Given the description of an element on the screen output the (x, y) to click on. 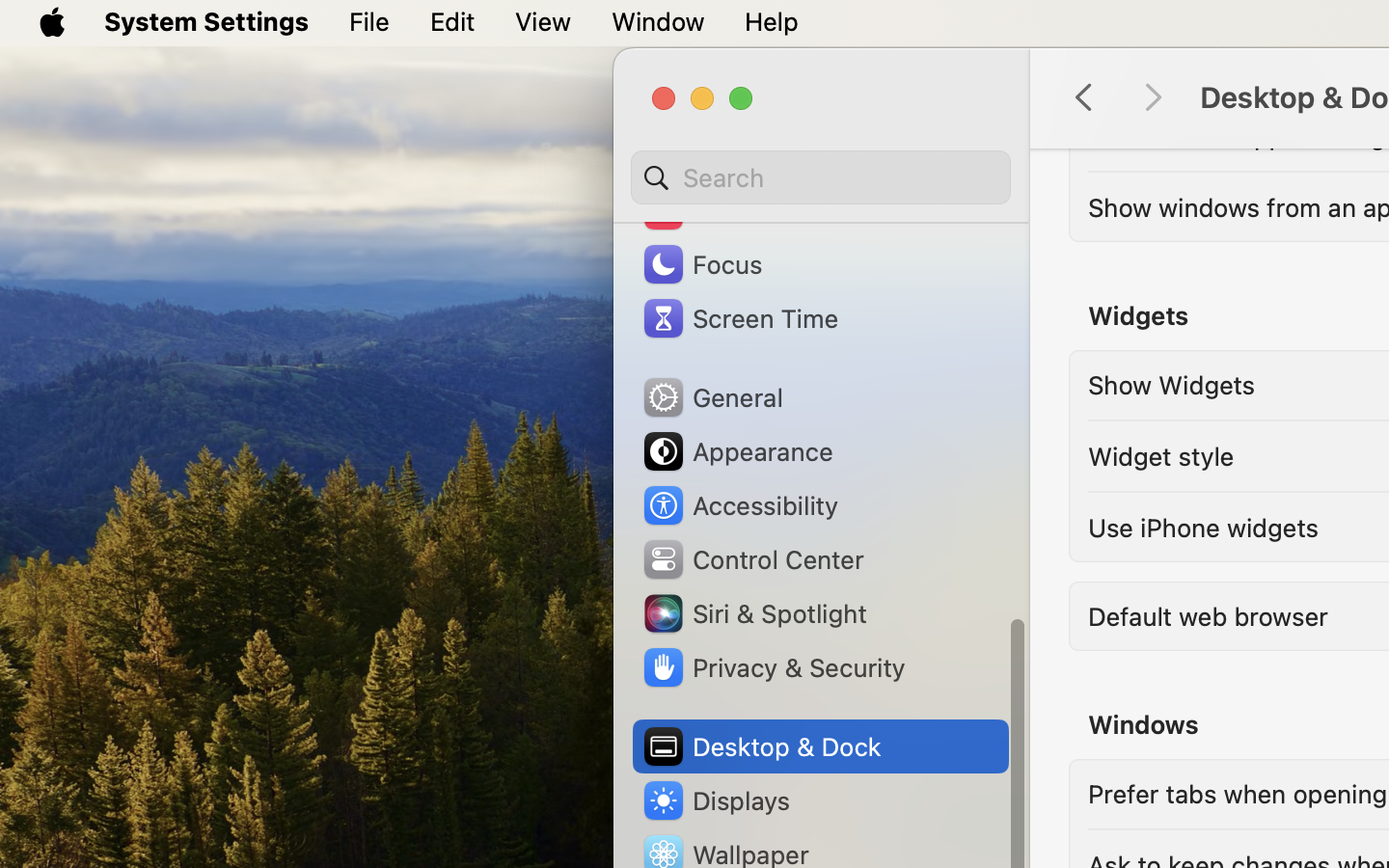
Use iPhone widgets Element type: AXStaticText (1203, 526)
Focus Element type: AXStaticText (701, 264)
Desktop & Dock Element type: AXStaticText (760, 746)
Widget style Element type: AXStaticText (1161, 454)
Displays Element type: AXStaticText (715, 800)
